Given the description of an element on the screen output the (x, y) to click on. 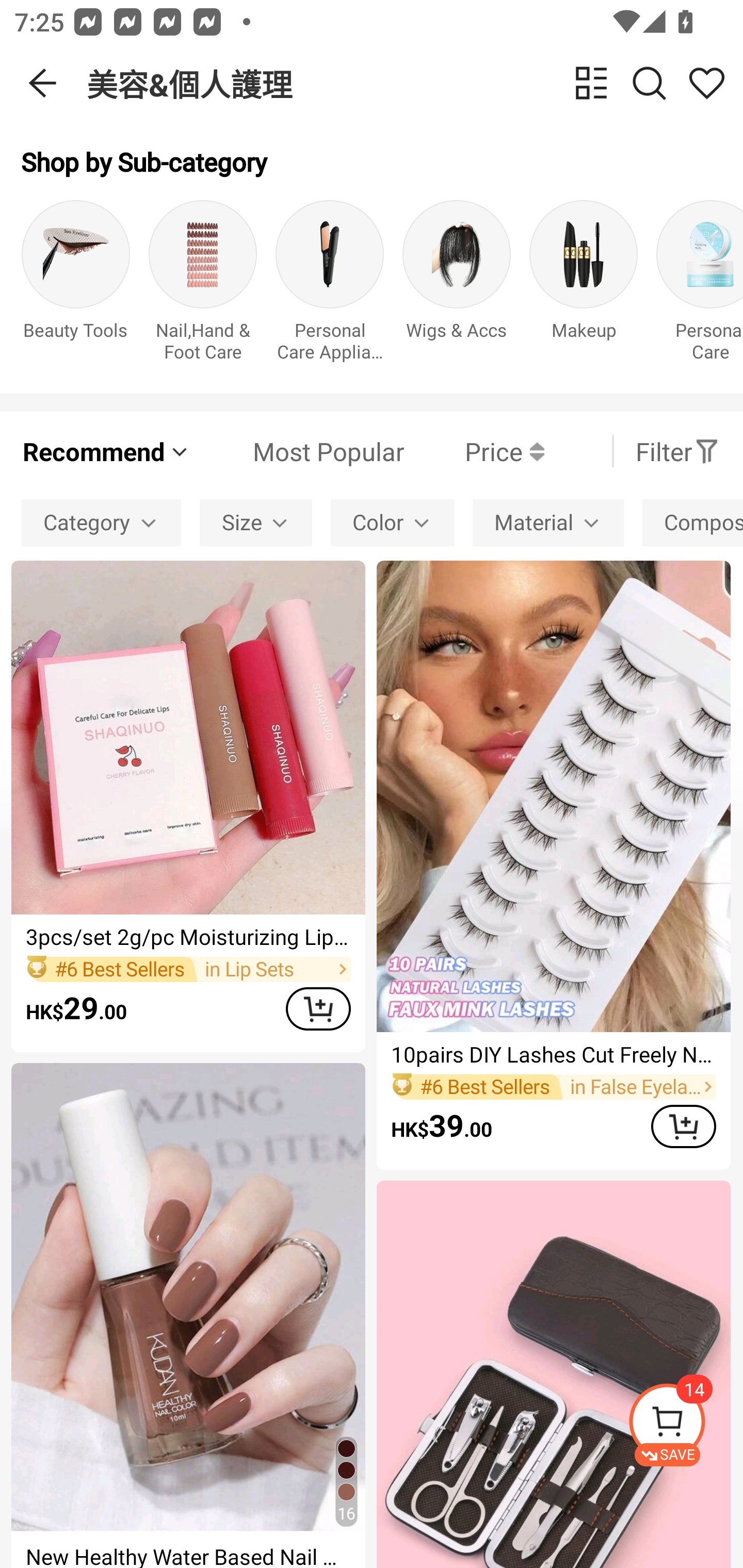
美容&個人護理 change view Search Share (414, 82)
change view (591, 82)
Search (648, 82)
Share (706, 82)
Beauty Tools (75, 285)
Nail,Hand & Foot Care (202, 285)
Personal Care Appliance (329, 285)
Wigs & Accs (456, 285)
Makeup (583, 285)
Personal Care (699, 285)
Recommend (106, 450)
Most Popular (297, 450)
Price (474, 450)
Filter (677, 450)
Category (101, 521)
Size (255, 521)
Color (391, 521)
Material (548, 521)
Composition (692, 521)
#6 Best Sellers in Lip Sets (188, 968)
ADD TO CART (318, 1008)
#6 Best Sellers in False Eyelashes (553, 1086)
ADD TO CART (683, 1126)
7pcs Nail Clipper Set Nail Kits (553, 1374)
SAVE (685, 1424)
